Given the description of an element on the screen output the (x, y) to click on. 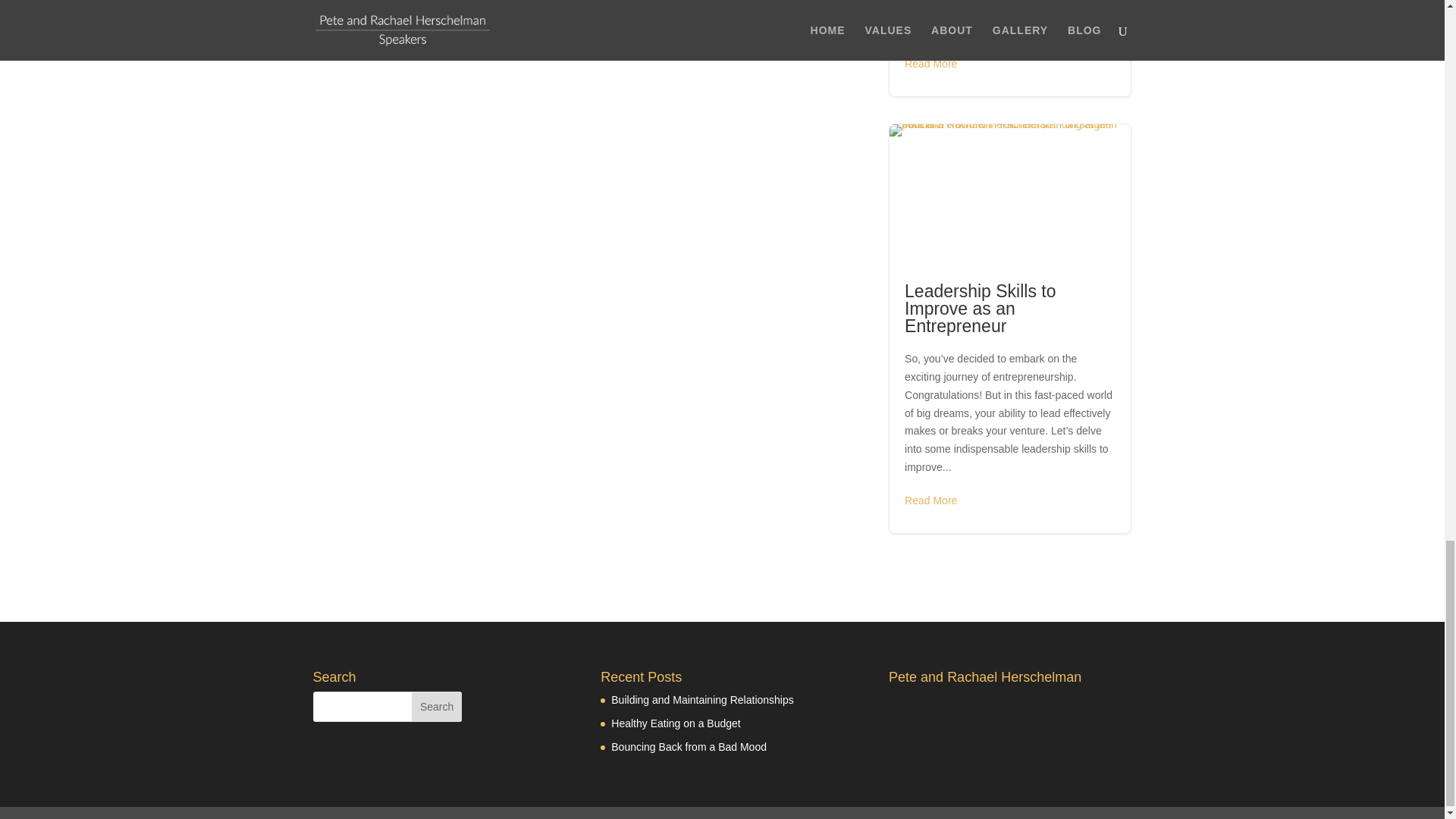
Building and Maintaining Relationships  (703, 699)
Read More (930, 501)
Search (436, 706)
Leadership Skills to Improve as an Entrepreneur  (979, 308)
Healthy Eating on a Budget  (676, 723)
Bouncing Back from a Bad Mood  (690, 746)
Read More (930, 64)
Search (436, 706)
